Given the description of an element on the screen output the (x, y) to click on. 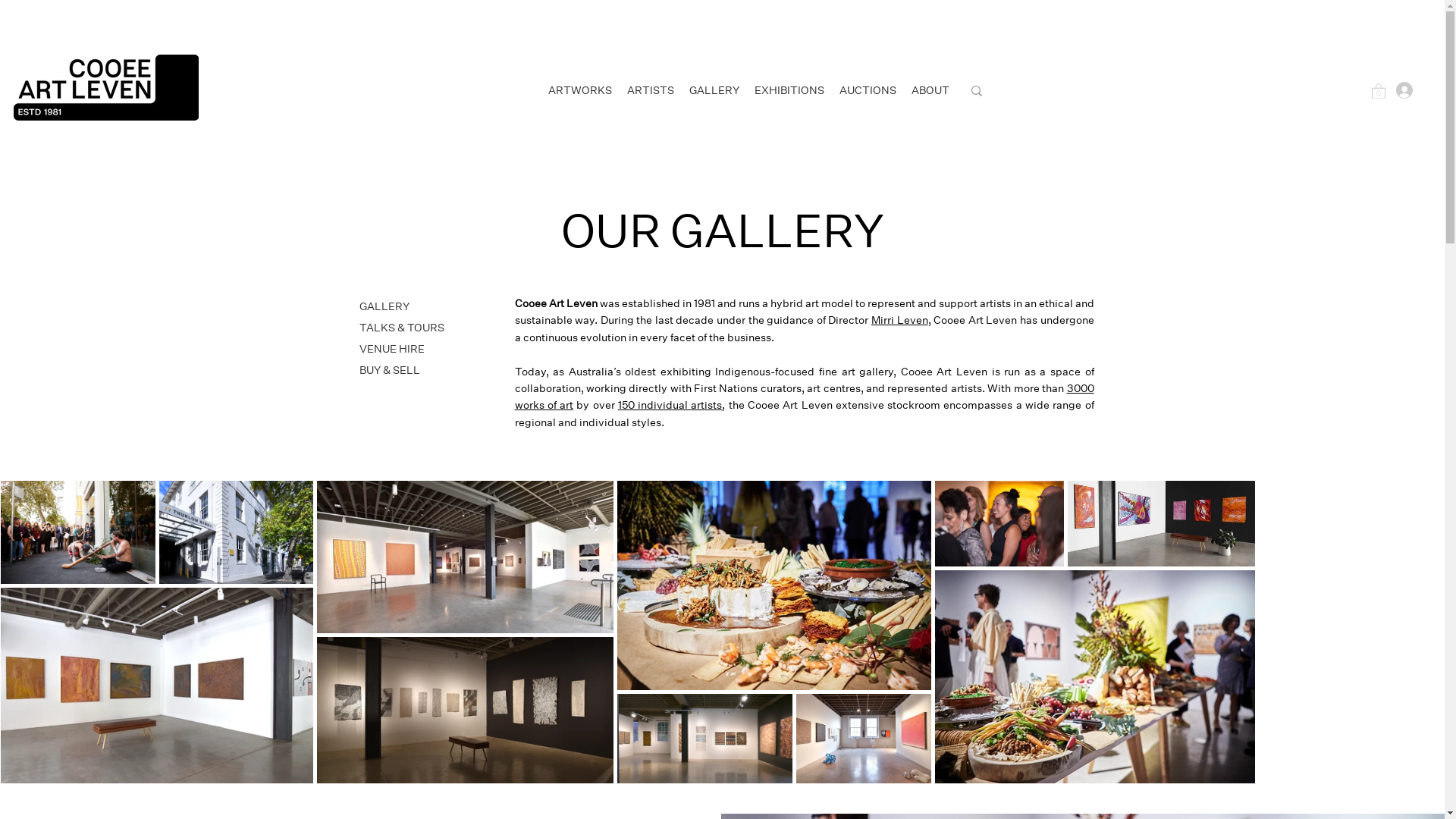
0 Element type: text (1378, 90)
AUCTIONS Element type: text (867, 90)
Mirri Leven Element type: text (899, 319)
BUY & SELL Element type: text (421, 369)
ABOUT Element type: text (930, 90)
ARTISTS Element type: text (650, 90)
EXHIBITIONS Element type: text (788, 90)
TALKS & TOURS Element type: text (421, 327)
Home - Cooee Art Leven Element type: hover (105, 87)
GALLERY Element type: text (421, 305)
GALLERY Element type: text (713, 90)
VENUE HIRE Element type: text (421, 348)
Log In Element type: text (1406, 90)
150 individual artists Element type: text (670, 404)
3000 works of art Element type: text (803, 396)
ARTWORKS Element type: text (579, 90)
